Given the description of an element on the screen output the (x, y) to click on. 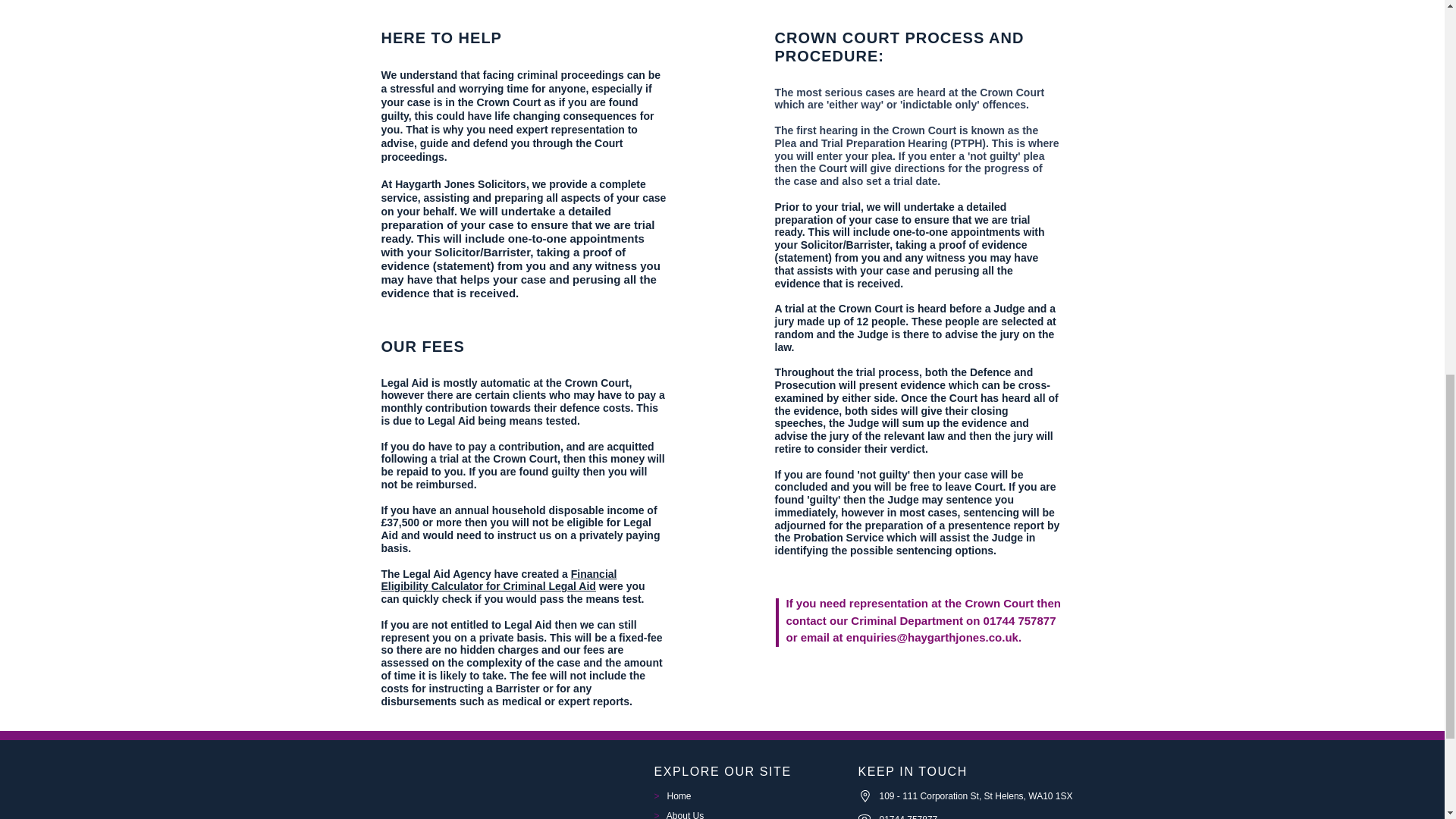
01744 757877 (1020, 620)
01744 757877 (908, 816)
Financial Eligibility Calculator for Criminal Legal Aid (497, 580)
